Given the description of an element on the screen output the (x, y) to click on. 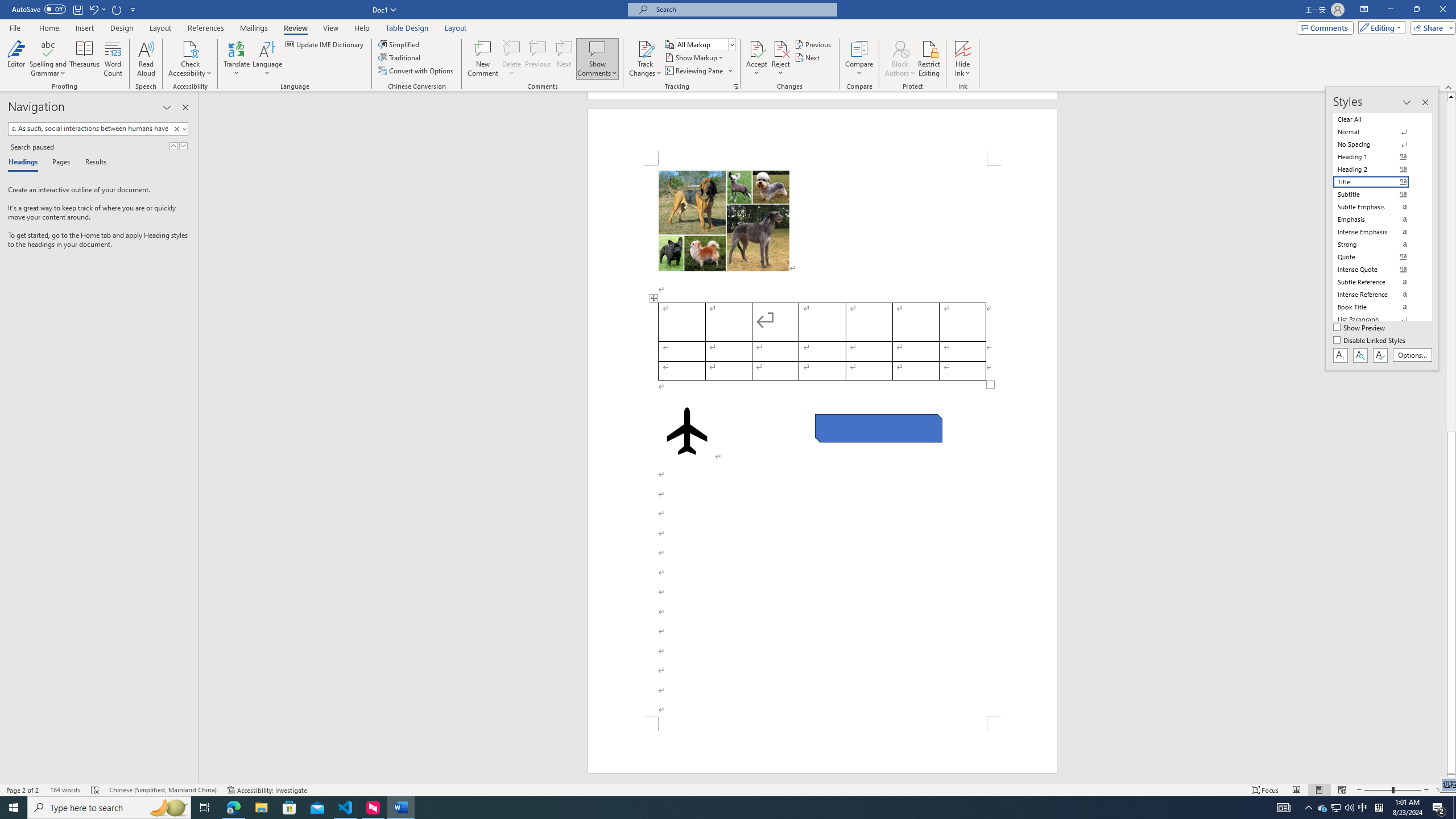
Normal (1377, 131)
Simplified (400, 44)
No Spacing (1377, 144)
Class: NetUIScrollBar (1450, 437)
Translate (236, 58)
Quick Access Toolbar (74, 9)
Disable Linked Styles (1370, 340)
File Tab (15, 27)
Clear (176, 128)
AutoSave (38, 9)
Reviewing Pane (694, 69)
Accept (756, 58)
Reject and Move to Next (780, 48)
Spelling and Grammar (48, 48)
